Given the description of an element on the screen output the (x, y) to click on. 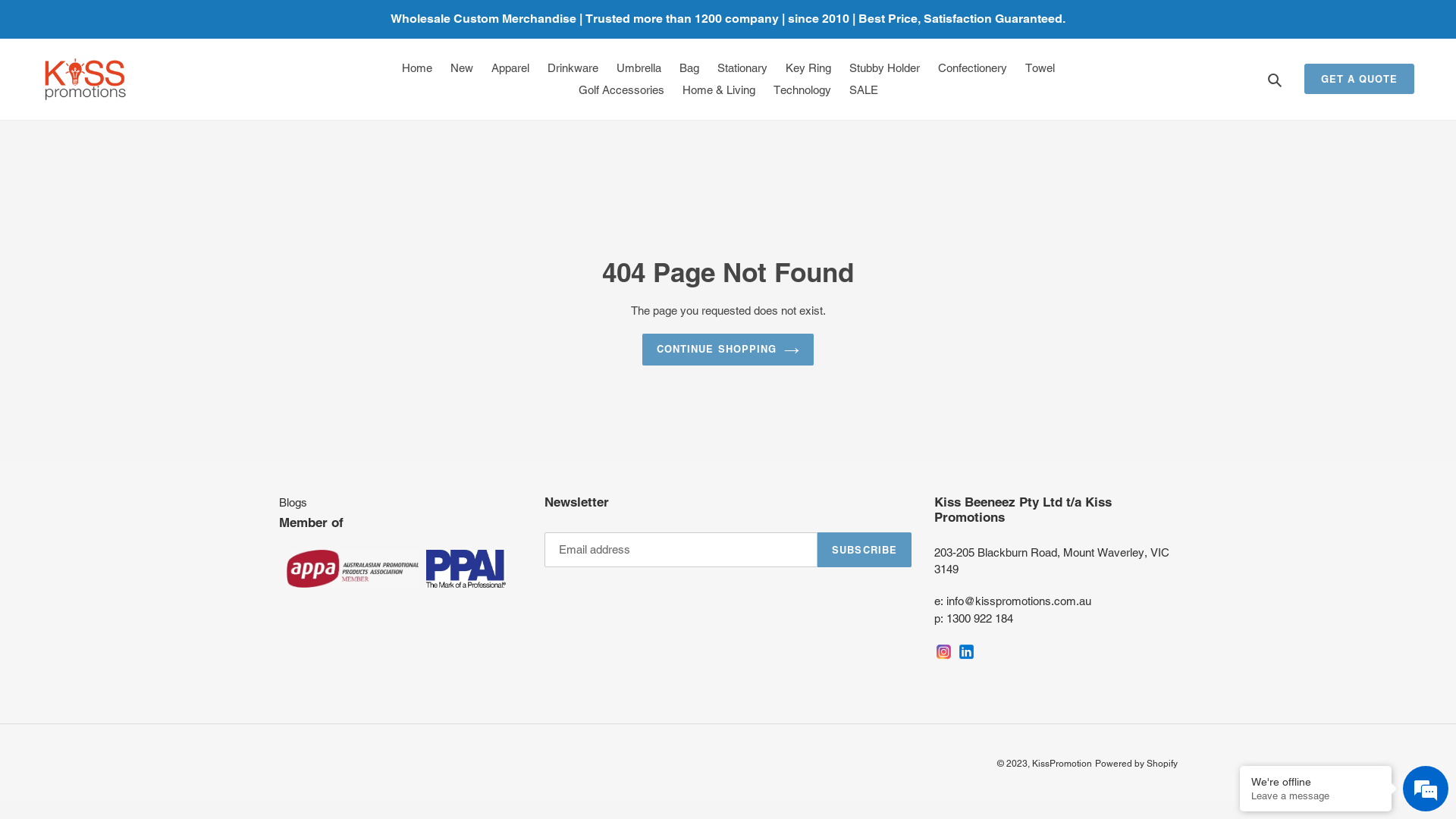
Towel Element type: text (1039, 68)
Key Ring Element type: text (808, 68)
Search Element type: text (1275, 78)
Blogs Element type: text (293, 501)
Stubby Holder Element type: text (884, 68)
Golf Accessories Element type: text (620, 89)
SUBSCRIBE Element type: text (863, 549)
New Element type: text (461, 68)
Home Element type: text (416, 68)
Powered by Shopify Element type: text (1136, 763)
Stationary Element type: text (742, 68)
Confectionery Element type: text (971, 68)
Bag Element type: text (688, 68)
GET A QUOTE Element type: text (1359, 78)
KissPromotion Element type: text (1061, 763)
Drinkware Element type: text (572, 68)
SALE Element type: text (863, 89)
Apparel Element type: text (509, 68)
Home & Living Element type: text (718, 89)
Umbrella Element type: text (638, 68)
CONTINUE SHOPPING Element type: text (727, 349)
Technology Element type: text (801, 89)
